Given the description of an element on the screen output the (x, y) to click on. 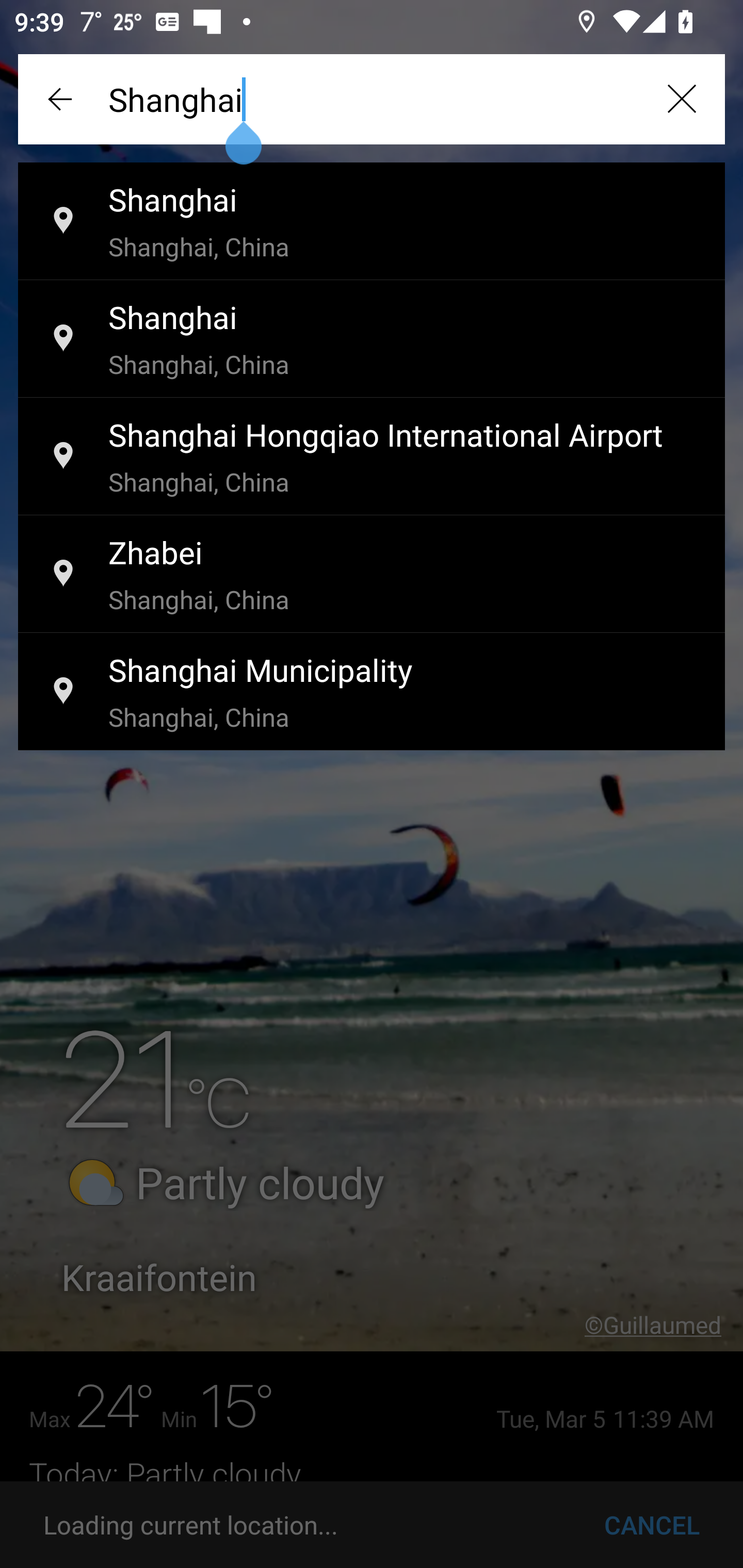
Shanghai (371, 99)
 (681, 99)
 (61, 99)
 Shanghai Shanghai, China (371, 221)
 Shanghai Shanghai, China (371, 339)
 Zhabei Shanghai, China (371, 574)
 Shanghai Municipality Shanghai, China (371, 692)
